Given the description of an element on the screen output the (x, y) to click on. 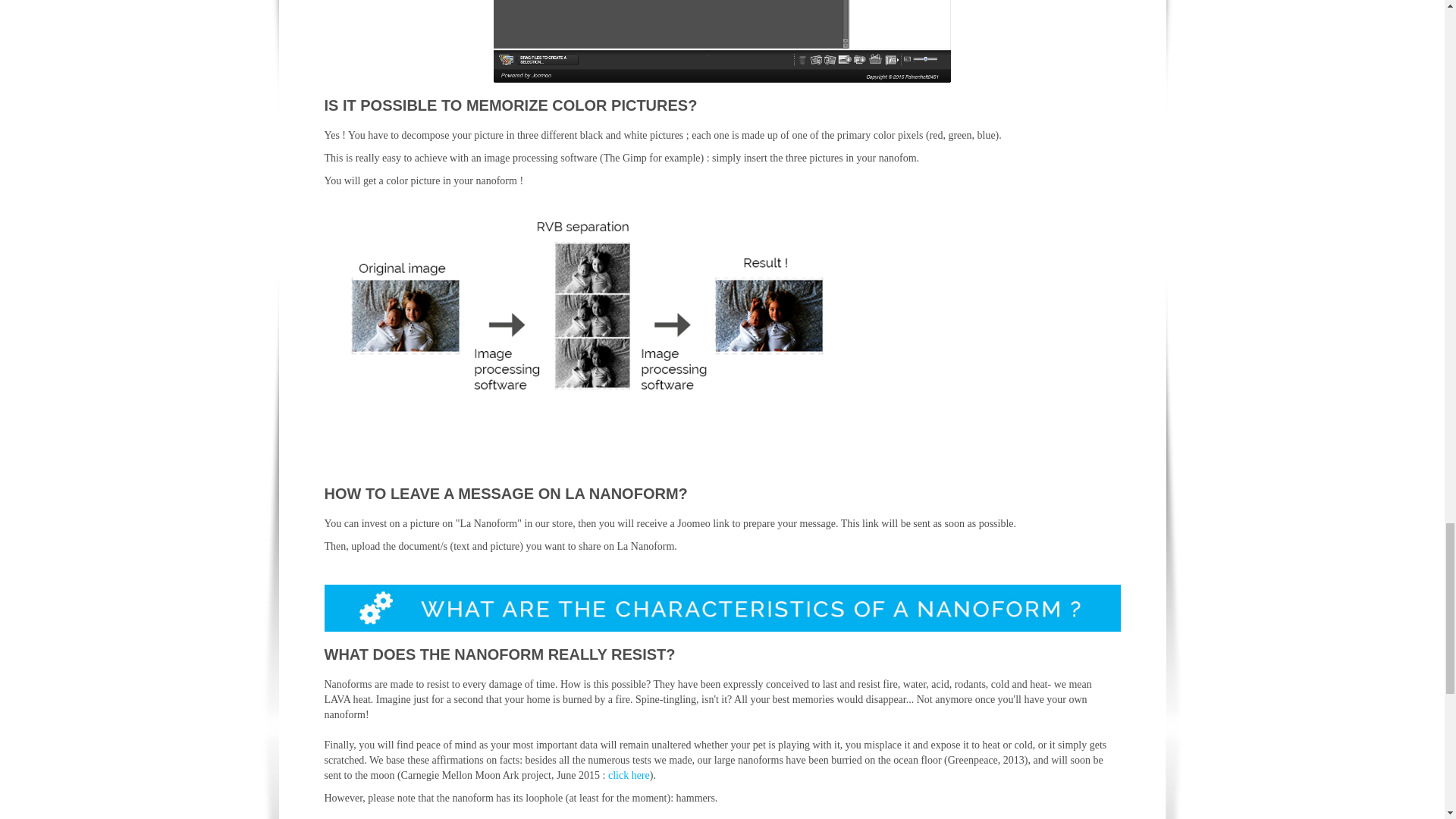
click here (628, 775)
